Given the description of an element on the screen output the (x, y) to click on. 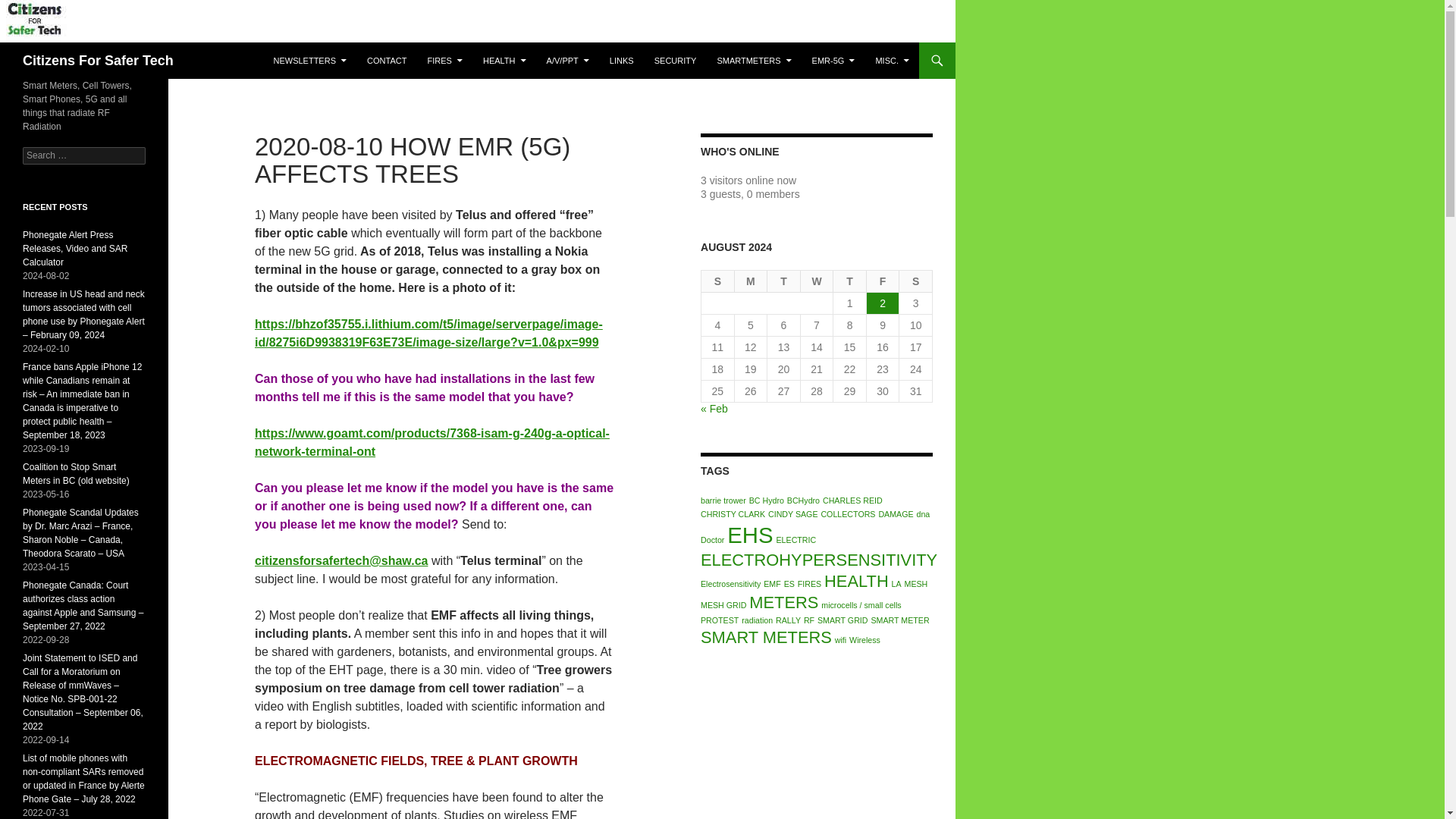
NEWSLETTERS (309, 60)
Wednesday (817, 281)
Sunday (718, 281)
Citizens For Safer Tech (98, 60)
Saturday (916, 281)
Friday (882, 281)
Thursday (849, 281)
Monday (751, 281)
Tuesday (783, 281)
